Given the description of an element on the screen output the (x, y) to click on. 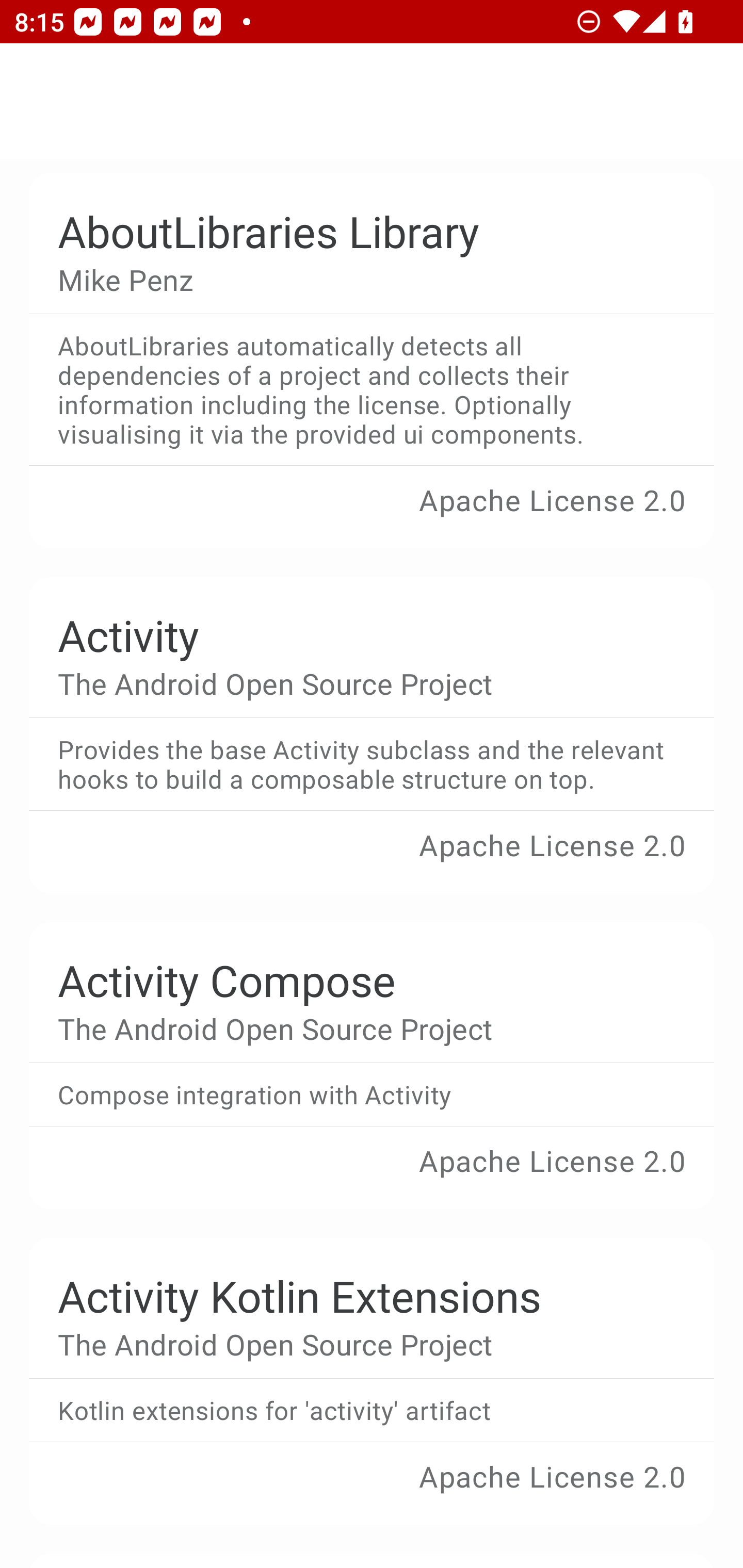
Mike Penz (356, 279)
Apache License 2.0 (371, 513)
The Android Open Source Project (356, 682)
Apache License 2.0 (371, 858)
The Android Open Source Project (356, 1027)
Apache License 2.0 (371, 1174)
The Android Open Source Project (356, 1344)
Apache License 2.0 (371, 1490)
